Given the description of an element on the screen output the (x, y) to click on. 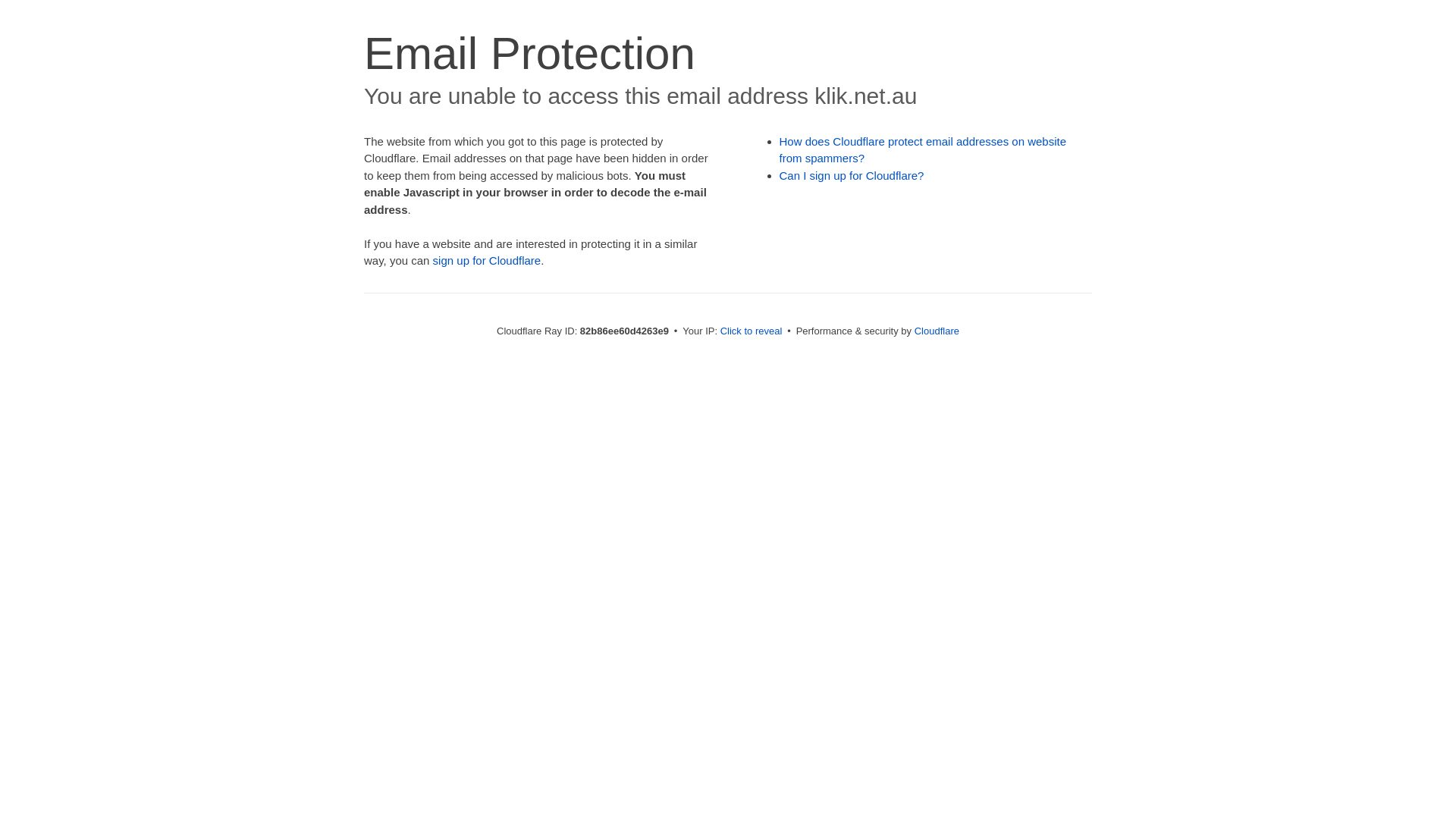
Can I sign up for Cloudflare? Element type: text (851, 175)
Click to reveal Element type: text (751, 330)
Cloudflare Element type: text (936, 330)
sign up for Cloudflare Element type: text (487, 260)
